Given the description of an element on the screen output the (x, y) to click on. 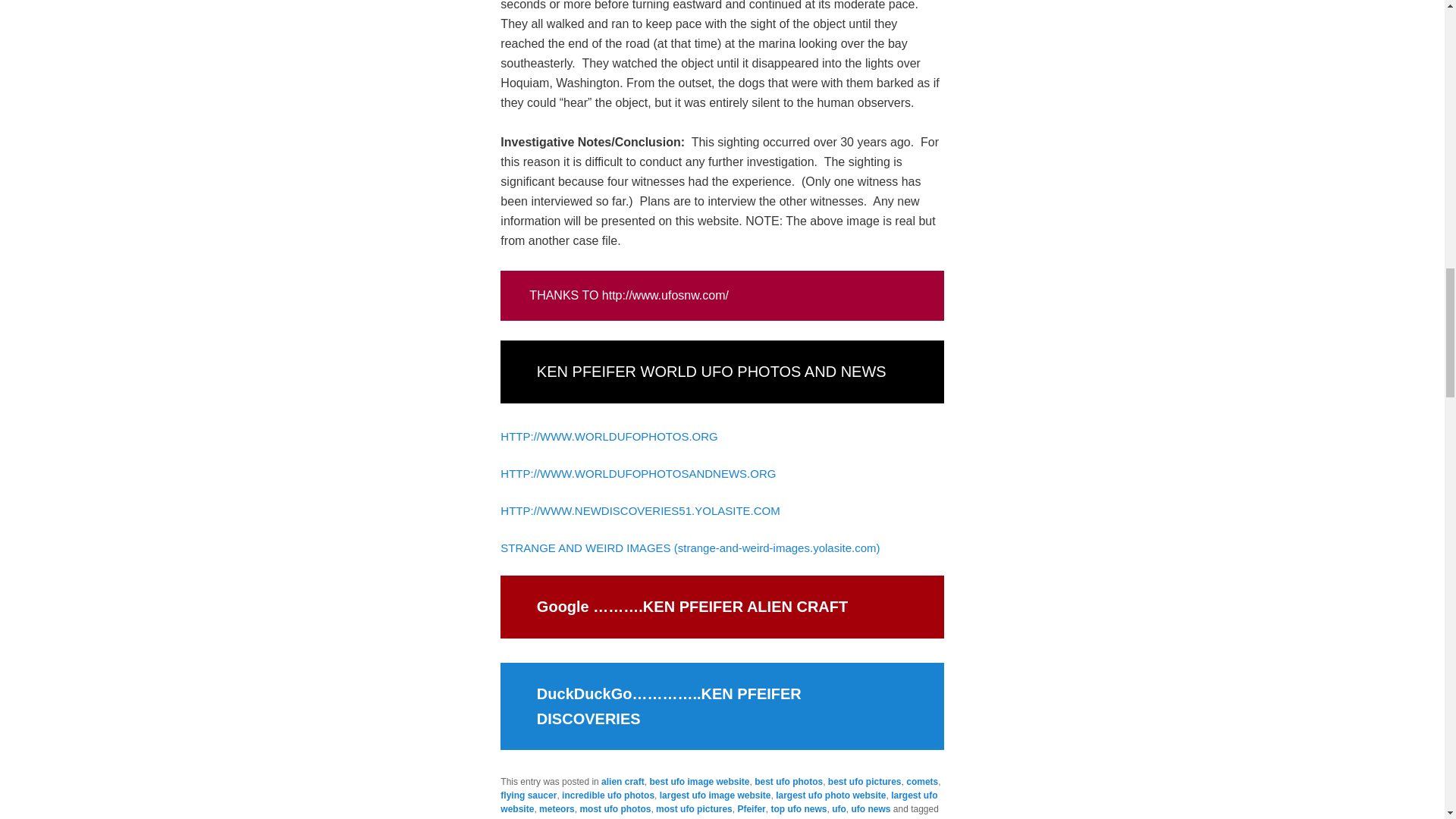
best ufo photos (788, 781)
top ufo news (798, 808)
largest ufo website (718, 802)
Google (563, 606)
meteors (556, 808)
Pfeifer (750, 808)
best ufo pictures (864, 781)
most ufo pictures (694, 808)
flying saucer (528, 795)
DuckDuckGo (584, 693)
largest ufo photo website (830, 795)
incredible ufo photos (607, 795)
largest ufo image website (715, 795)
most ufo photos (614, 808)
alien craft (623, 781)
